Given the description of an element on the screen output the (x, y) to click on. 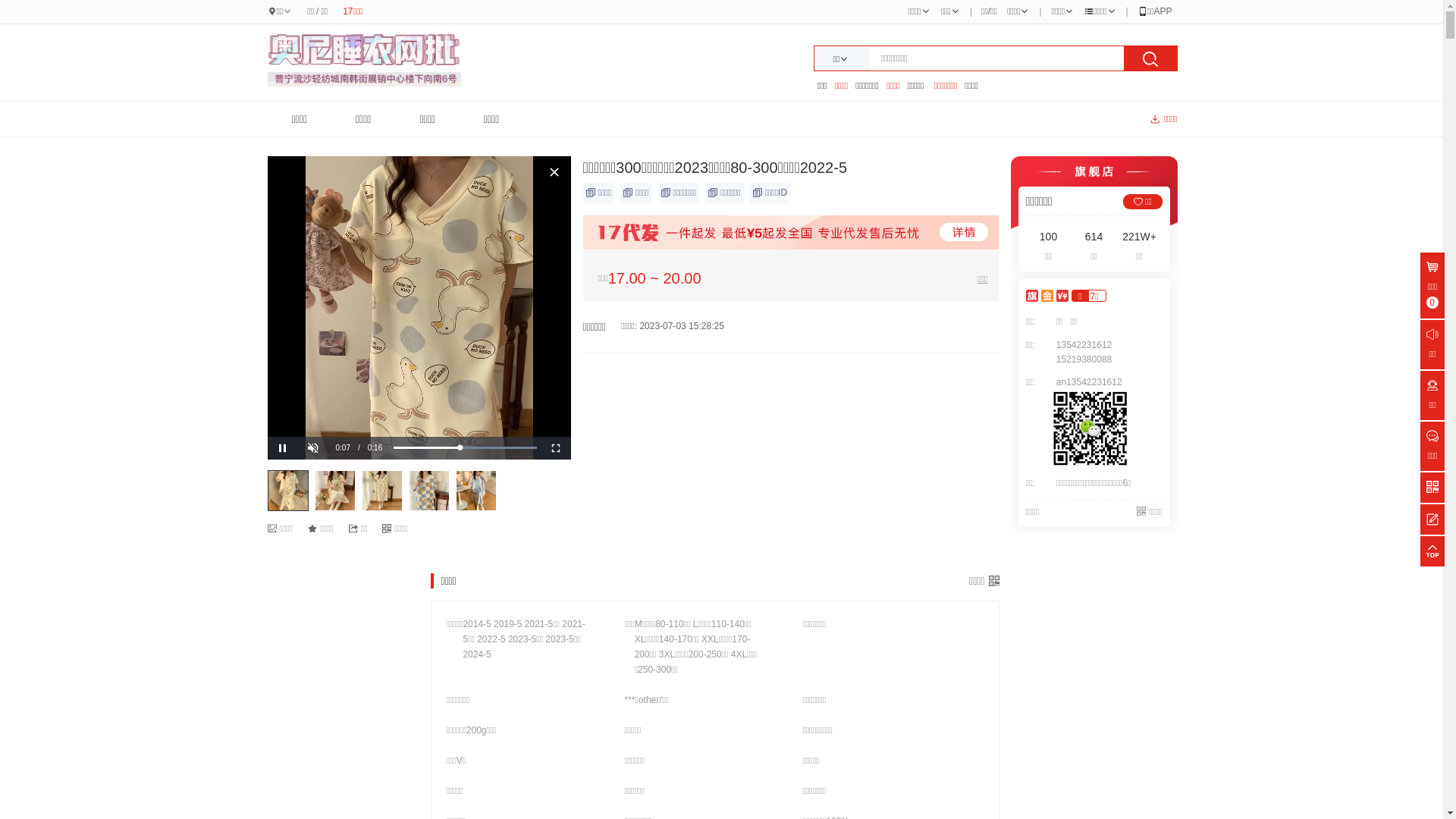
Non-Fullscreen Element type: text (554, 447)
13542231612 Element type: text (1083, 344)
Pause Element type: text (281, 447)
15219380088 Element type: text (1083, 359)
